Given the description of an element on the screen output the (x, y) to click on. 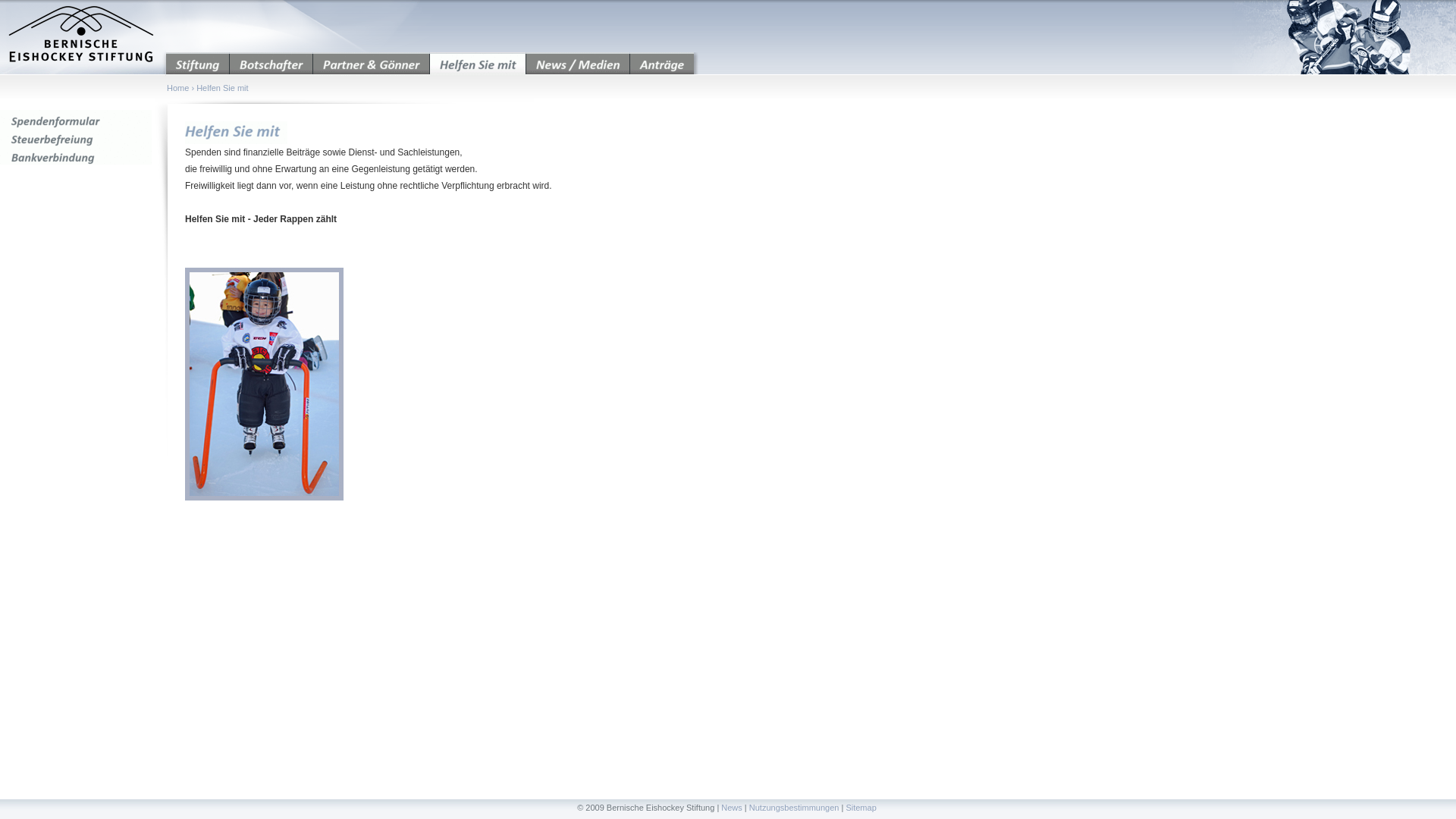
Nutzungsbestimmungen Element type: text (794, 807)
Sitemap Element type: text (860, 807)
Helfen Sie mit Element type: text (221, 87)
News Element type: text (731, 807)
Home Element type: text (177, 87)
  Element type: text (83, 37)
